Given the description of an element on the screen output the (x, y) to click on. 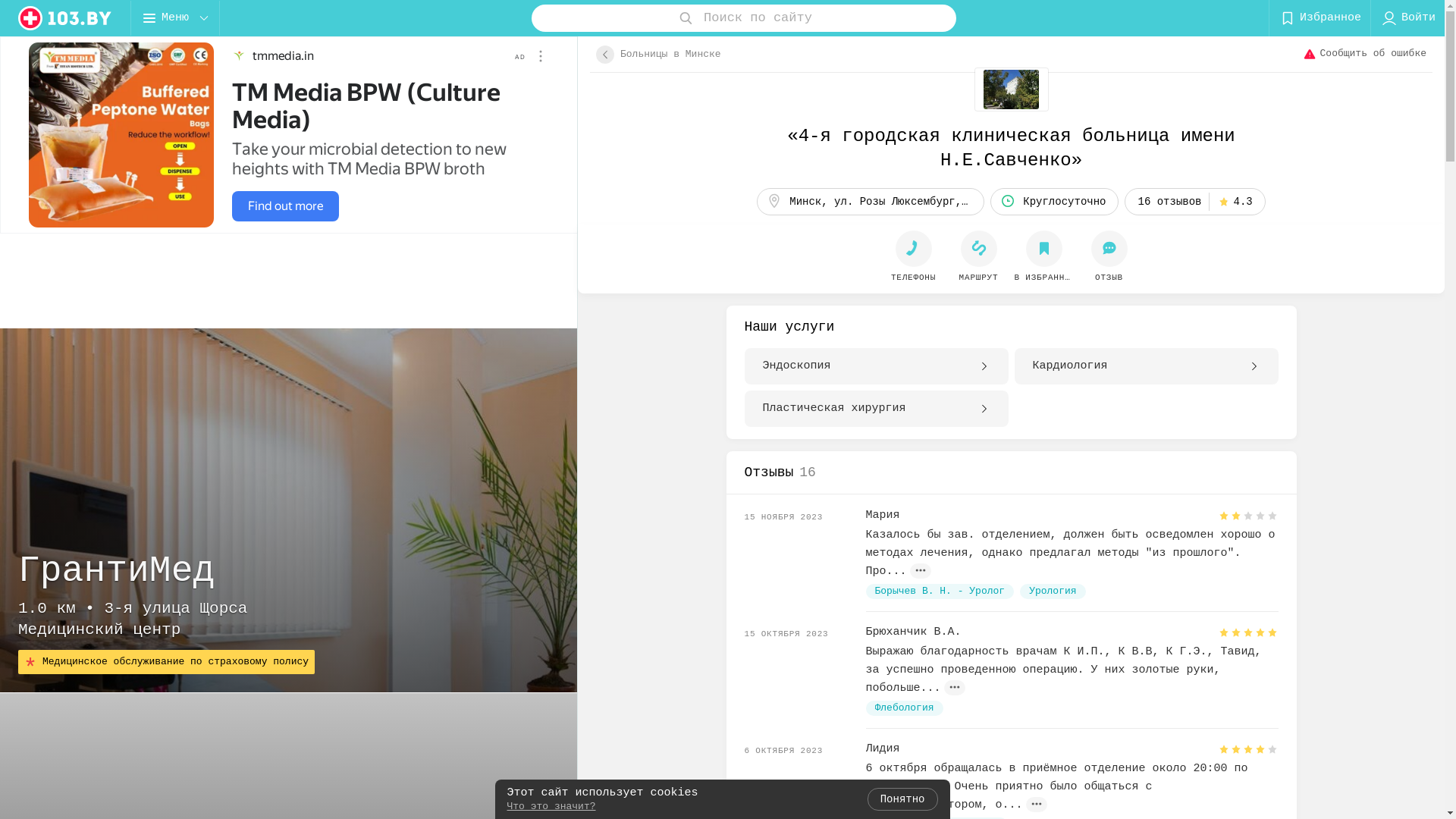
logo Element type: hover (65, 18)
